Given the description of an element on the screen output the (x, y) to click on. 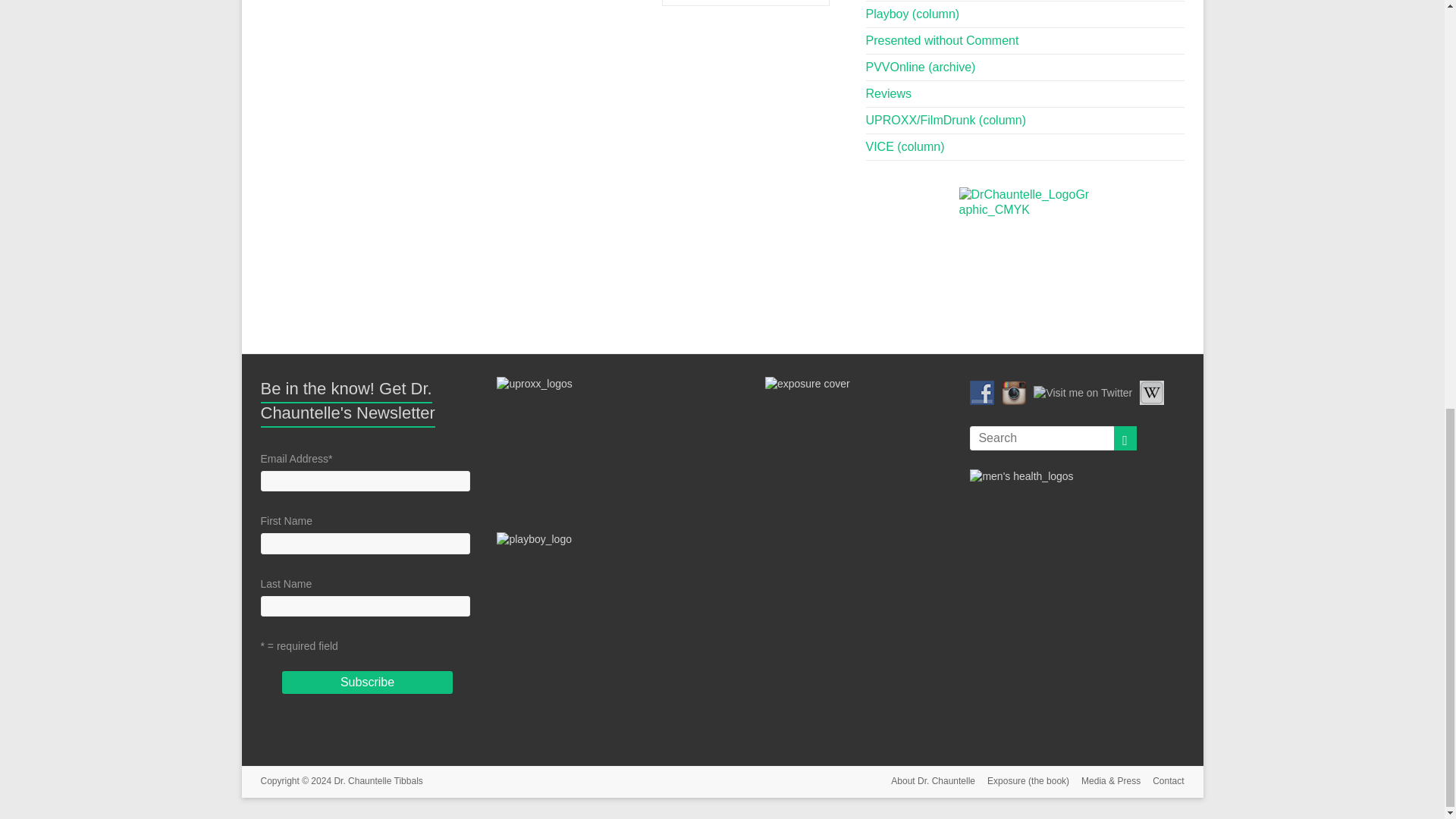
Dr. Chauntelle Tibbals (377, 780)
Subscribe (367, 681)
Visit me on Instagram (1013, 392)
Visit me on Twitter (1082, 392)
Visit me on Facebook (981, 392)
Visit me on  (1151, 392)
